Given the description of an element on the screen output the (x, y) to click on. 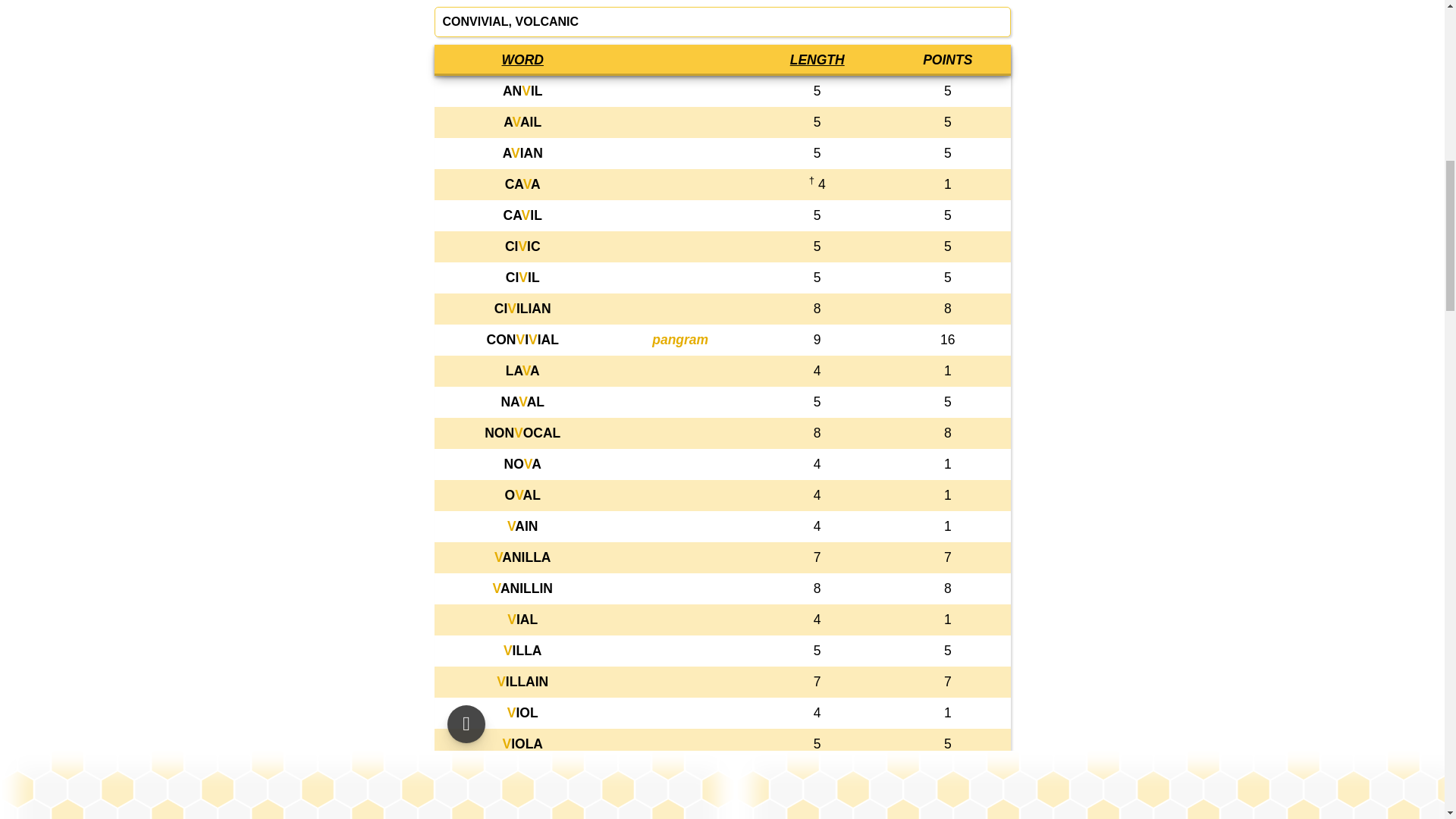
list spelling bee solutions alphabetically (522, 59)
list spelling bee solutions longest to shortest (817, 59)
